Given the description of an element on the screen output the (x, y) to click on. 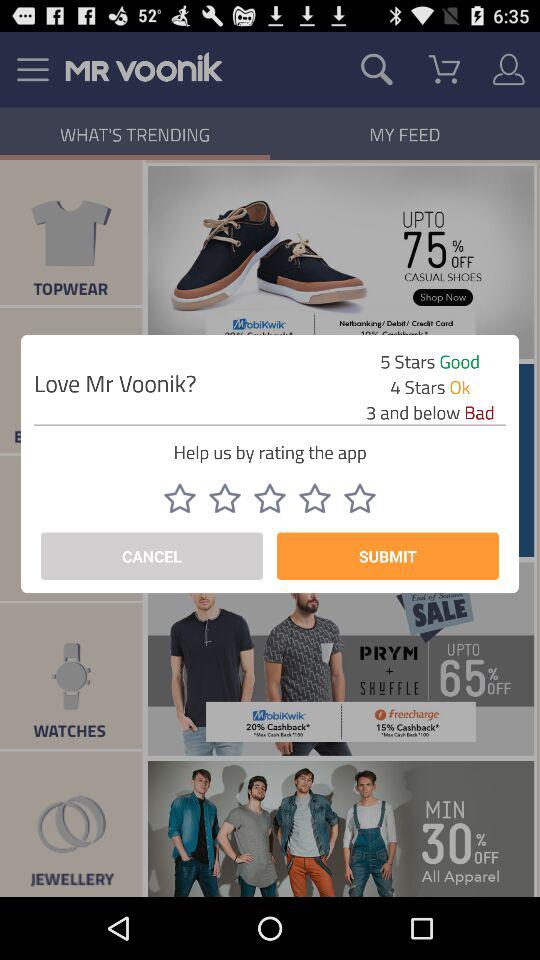
rate 4 stars (315, 498)
